Given the description of an element on the screen output the (x, y) to click on. 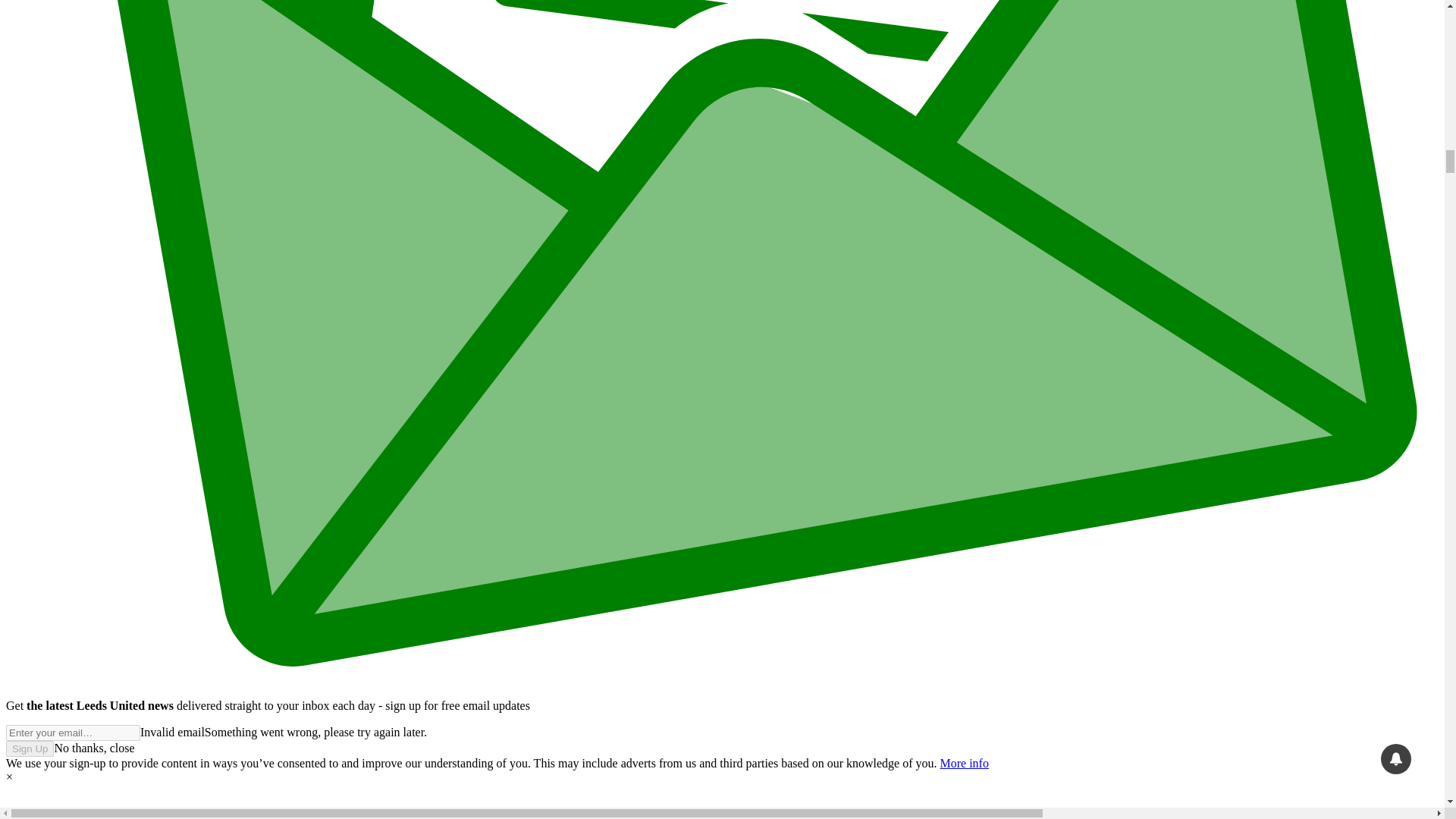
Group 28 (721, 801)
